Given the description of an element on the screen output the (x, y) to click on. 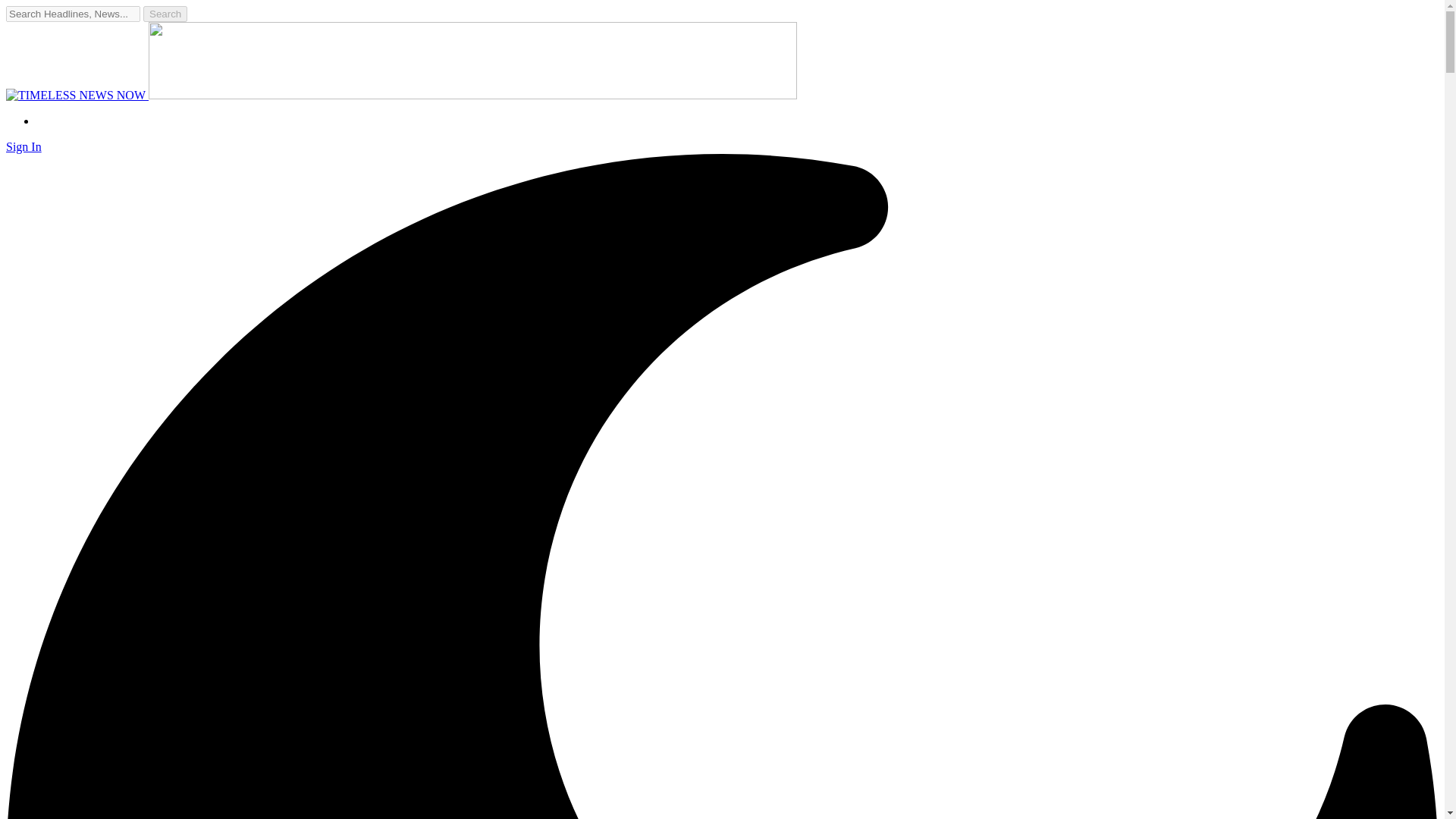
Sign In (23, 146)
Search (164, 13)
Search (164, 13)
